Given the description of an element on the screen output the (x, y) to click on. 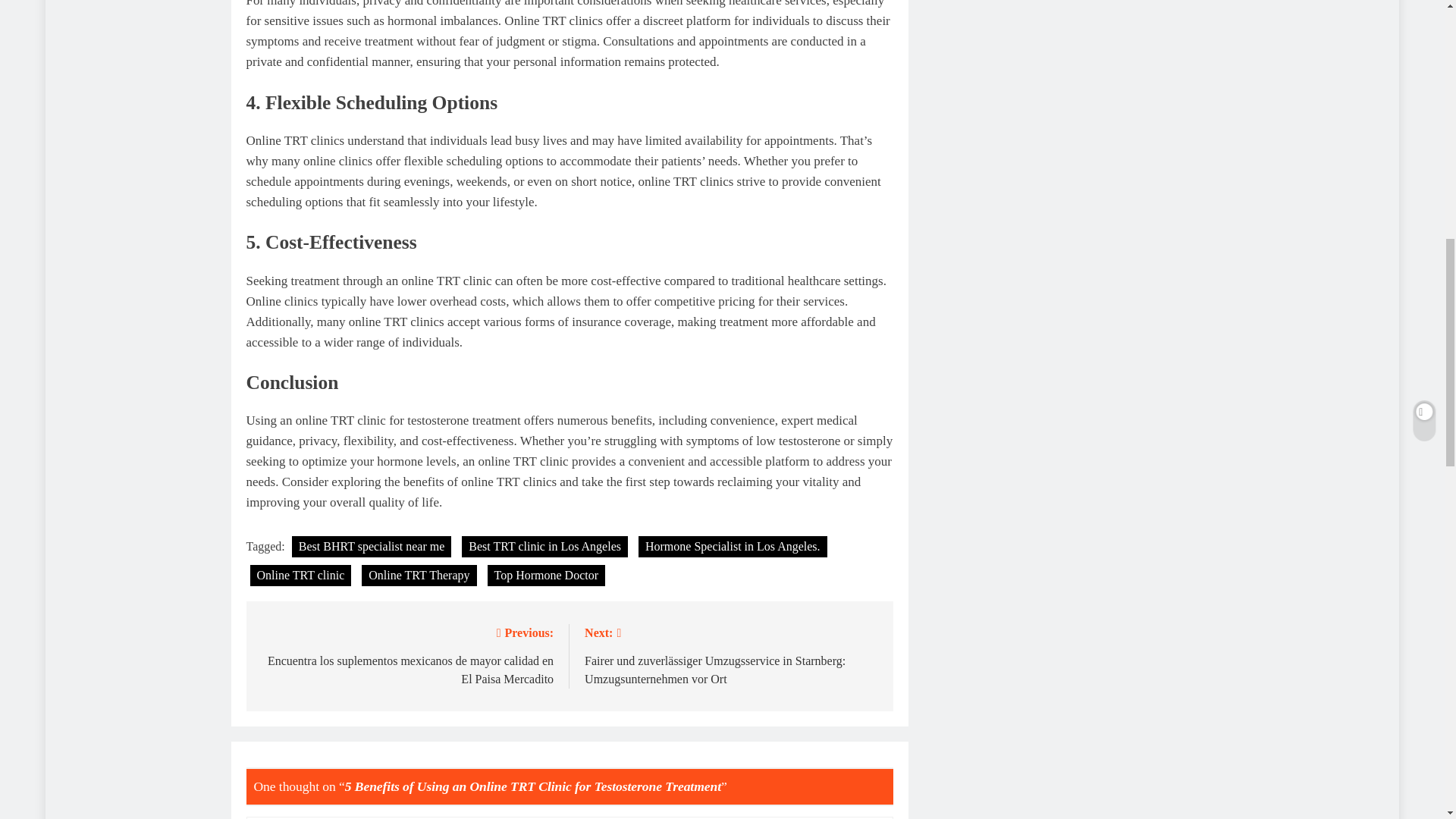
Online TRT clinic (301, 575)
Best TRT clinic in Los Angeles (544, 546)
Best BHRT specialist near me (371, 546)
Hormone Specialist in Los Angeles. (733, 546)
Top Hormone Doctor (546, 575)
Online TRT Therapy (418, 575)
